Given the description of an element on the screen output the (x, y) to click on. 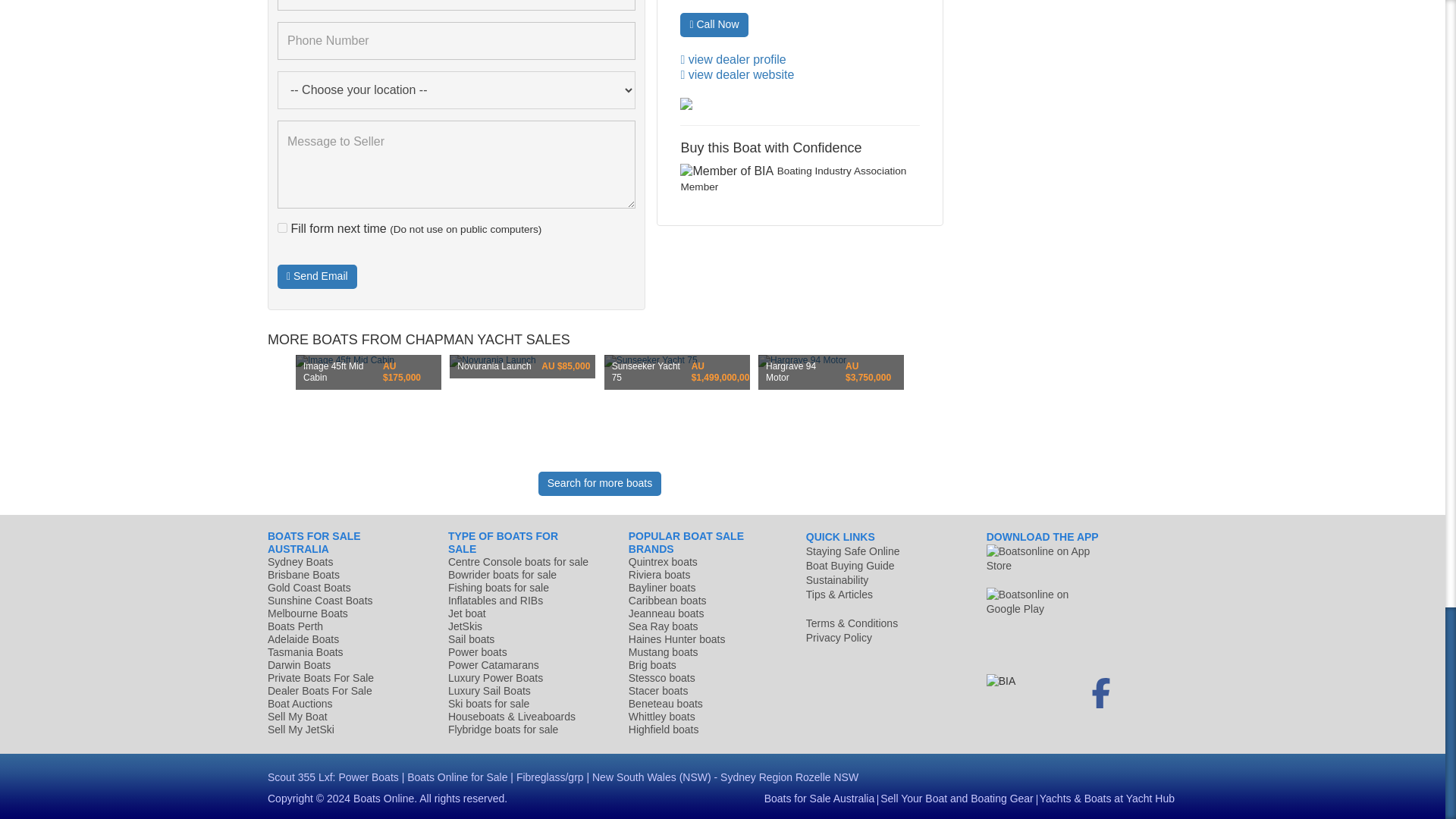
on (282, 227)
